Given the description of an element on the screen output the (x, y) to click on. 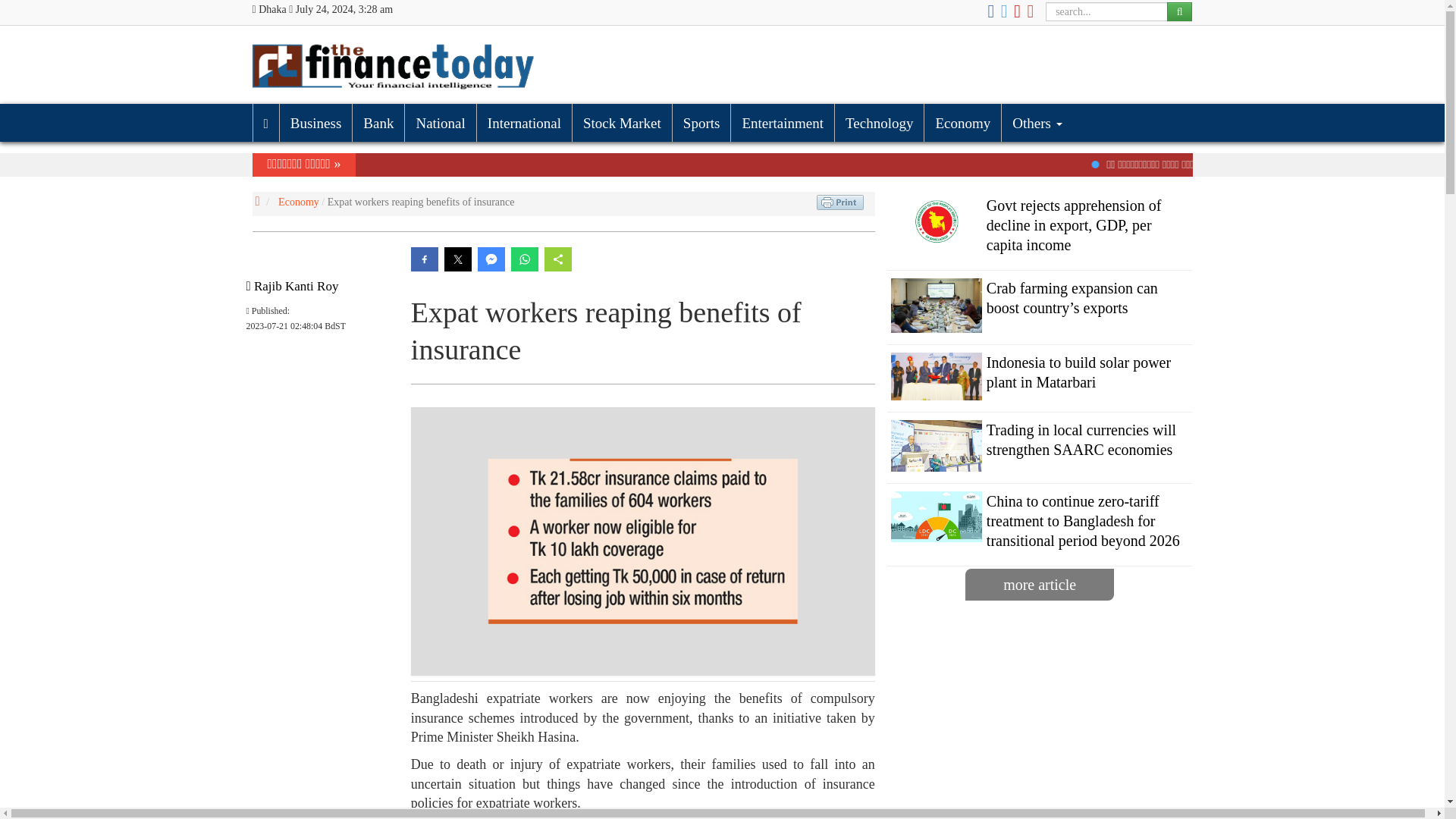
Print (839, 202)
International (524, 122)
Stock Market (621, 122)
National (440, 122)
Entertainment (782, 122)
Technology (878, 122)
Business (315, 122)
Bank (378, 122)
Economy (962, 122)
Sports (700, 122)
Others (1036, 122)
